Given the description of an element on the screen output the (x, y) to click on. 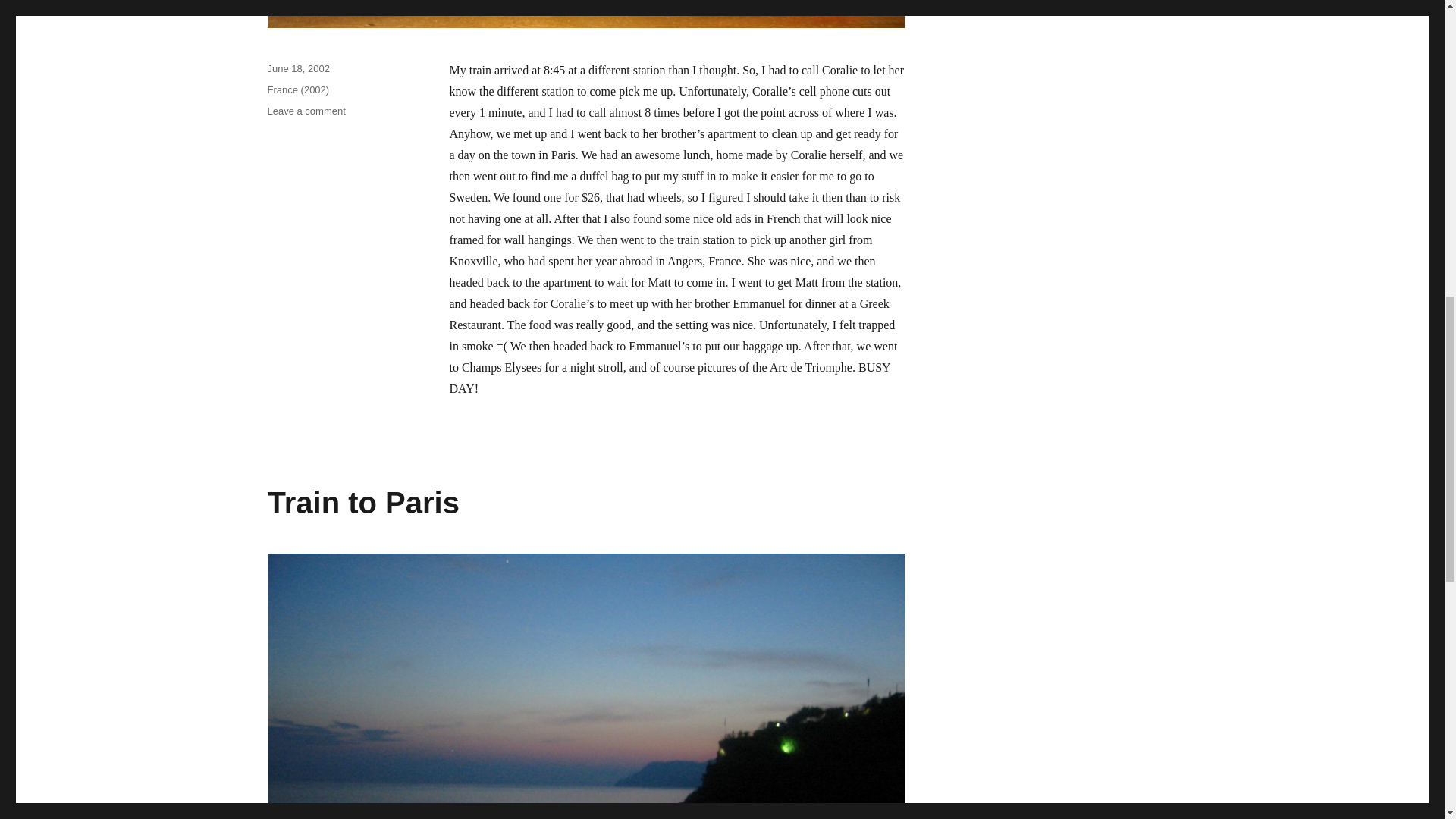
Train to Paris (362, 502)
June 18, 2002 (305, 111)
